Given the description of an element on the screen output the (x, y) to click on. 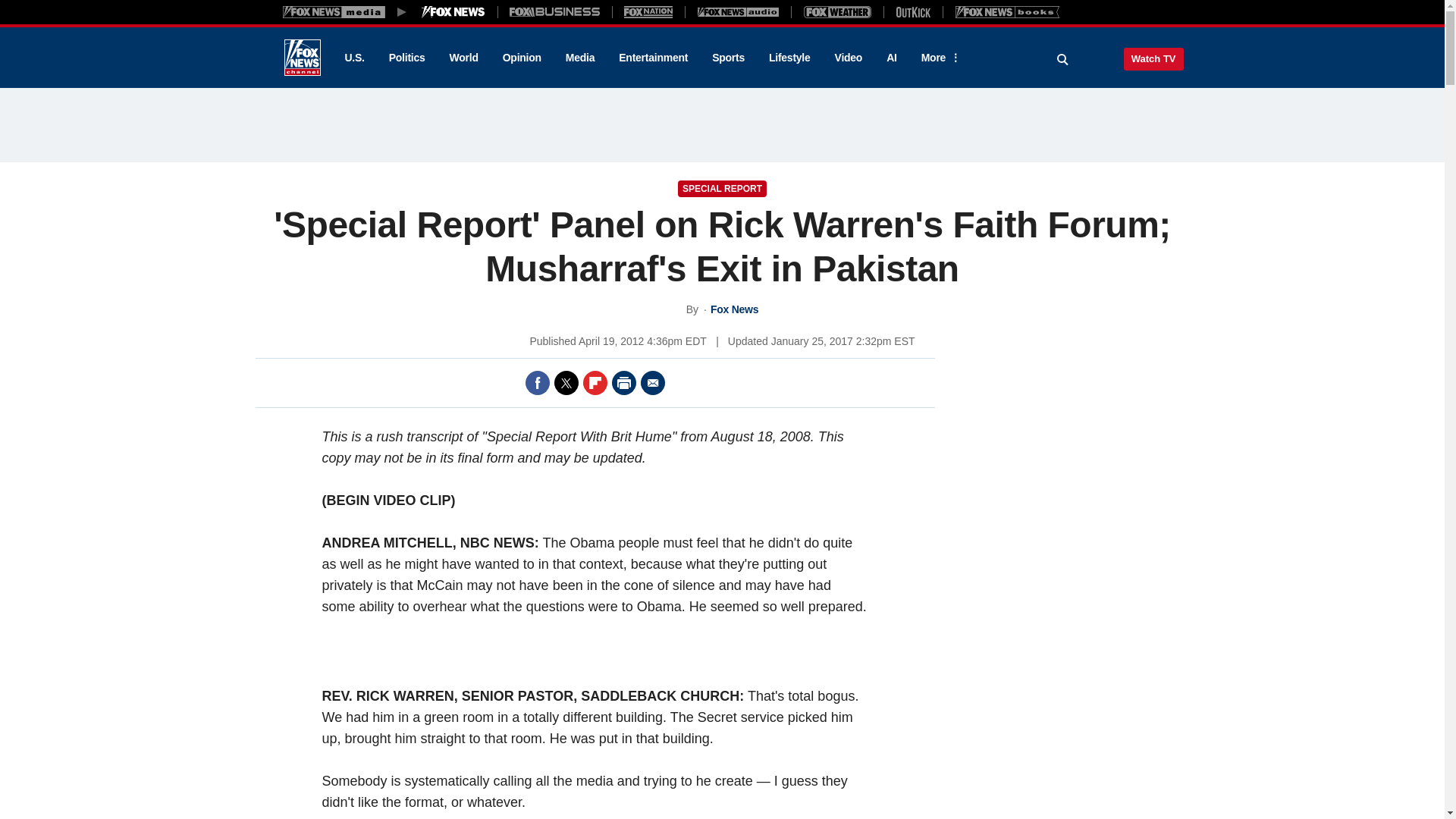
Watch TV (1153, 58)
More (938, 57)
Fox Weather (836, 11)
Fox Business (554, 11)
Outkick (912, 11)
Fox Nation (648, 11)
AI (891, 57)
Media (580, 57)
Fox News Audio (737, 11)
Opinion (521, 57)
